Given the description of an element on the screen output the (x, y) to click on. 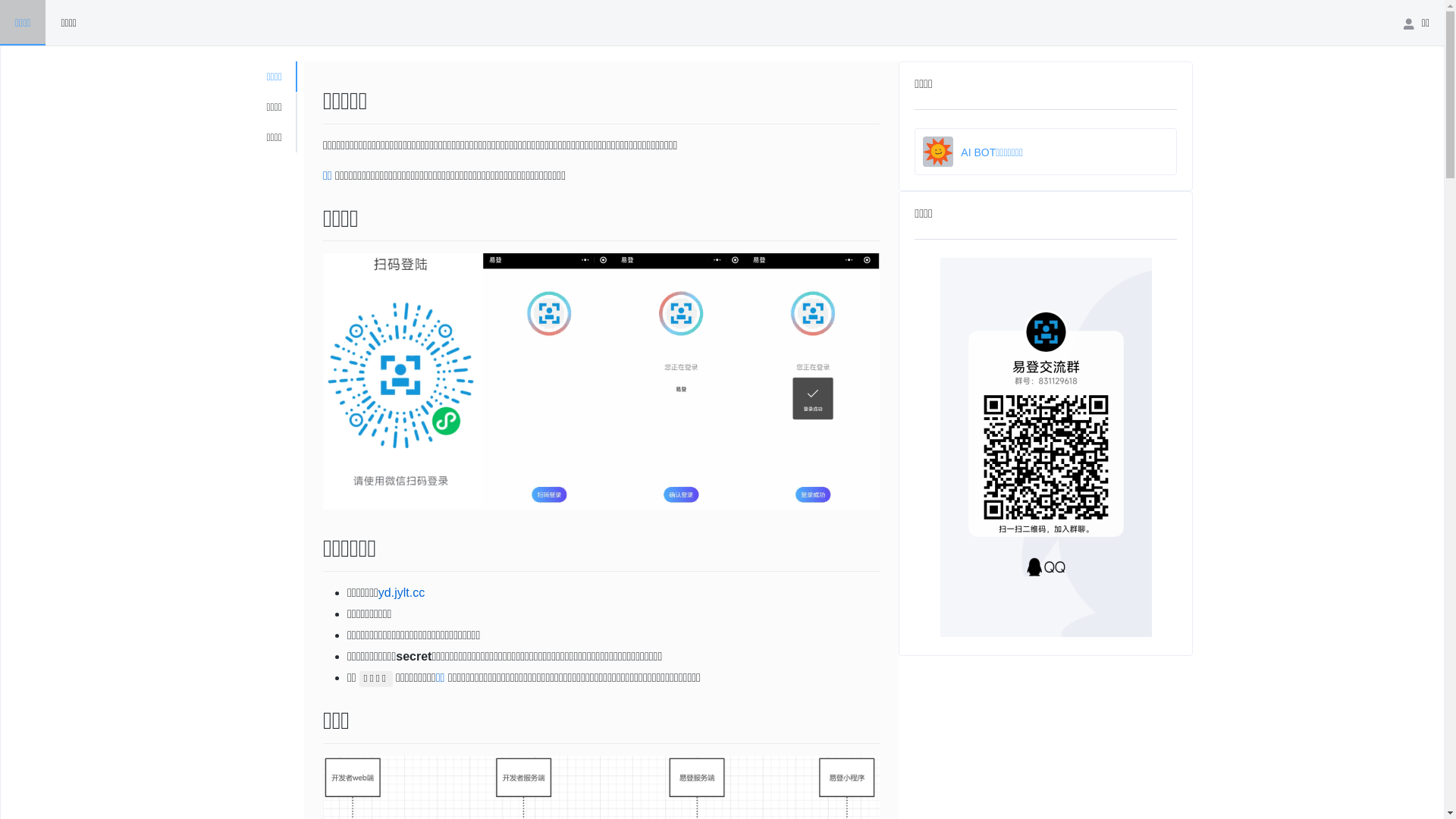
yd.jylt.cc Element type: text (401, 592)
